Given the description of an element on the screen output the (x, y) to click on. 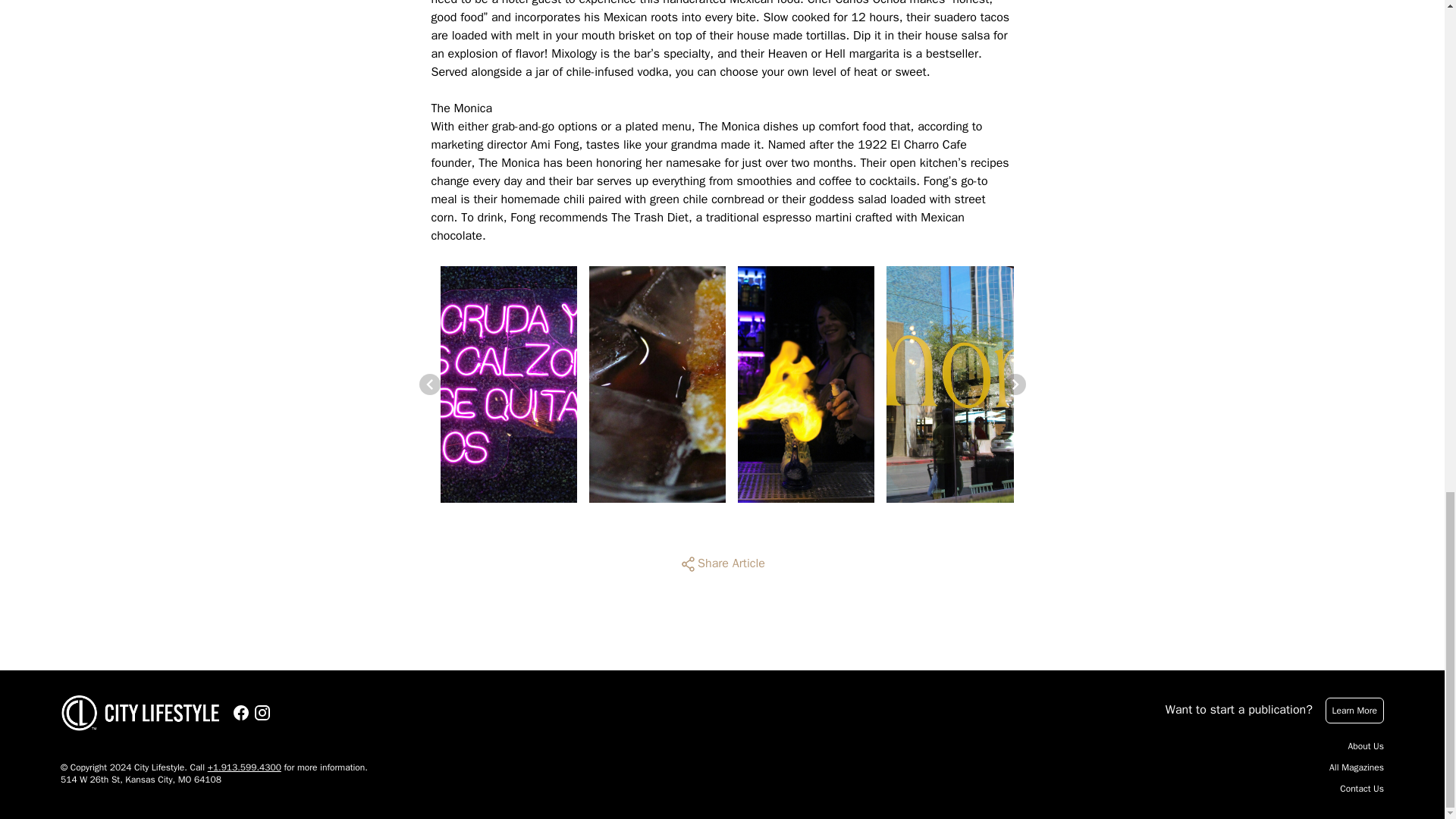
Learn More (1354, 710)
All Magazines (1356, 767)
About Us (1366, 746)
Share Article (722, 563)
Contact Us (1361, 788)
